Given the description of an element on the screen output the (x, y) to click on. 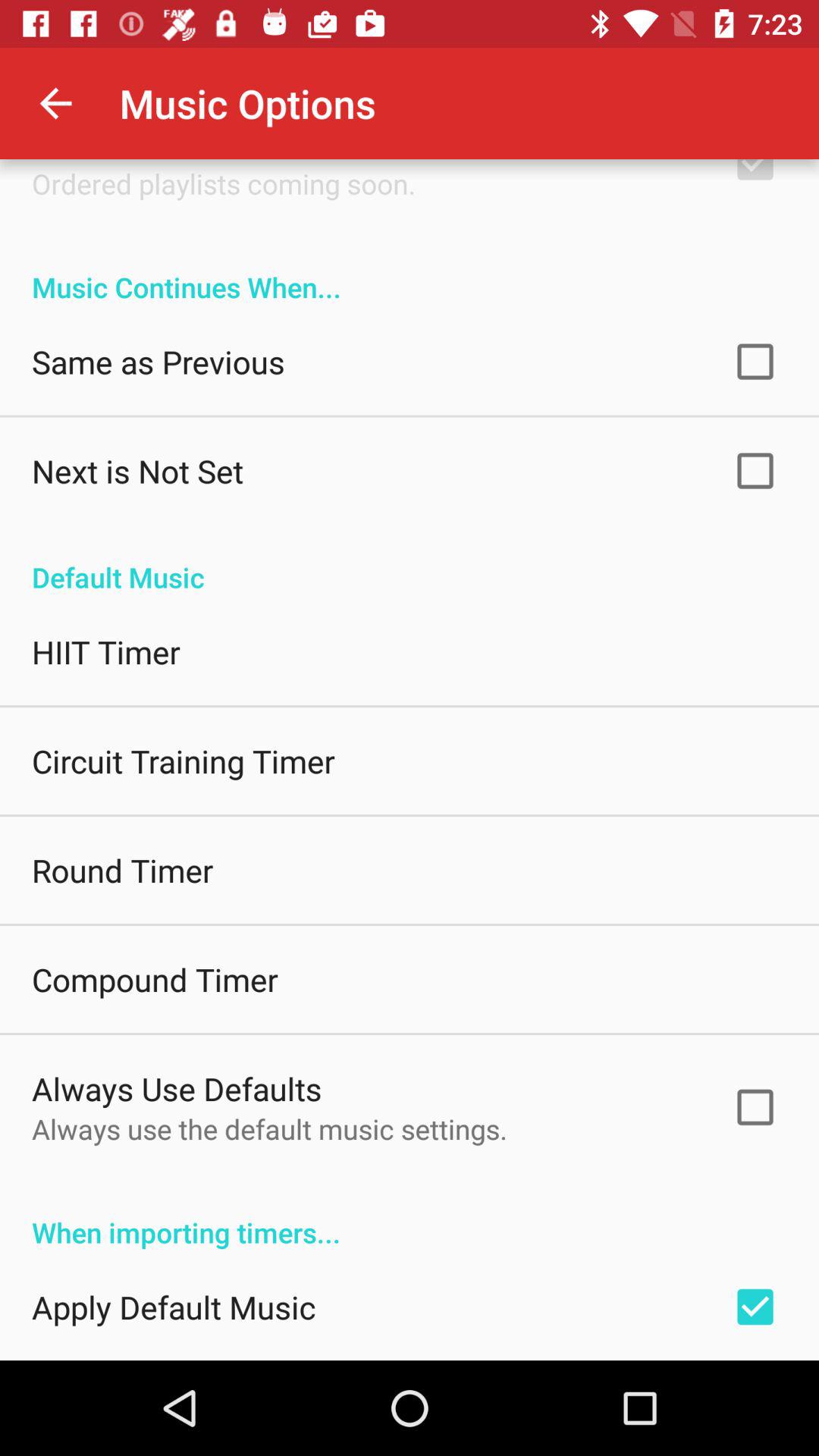
select icon below the same as previous item (137, 470)
